Given the description of an element on the screen output the (x, y) to click on. 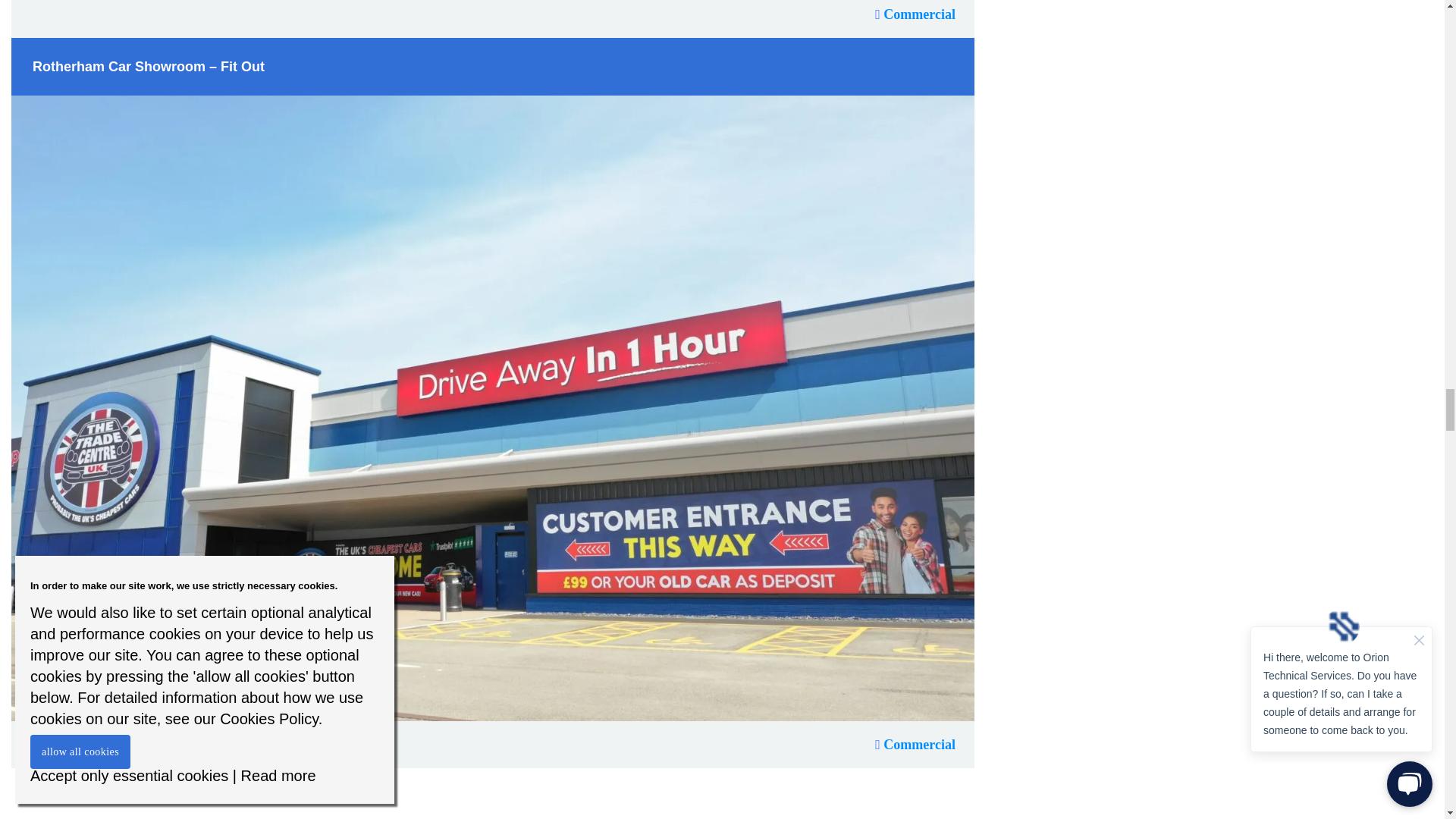
Commercial (915, 13)
Commercial (915, 744)
